Given the description of an element on the screen output the (x, y) to click on. 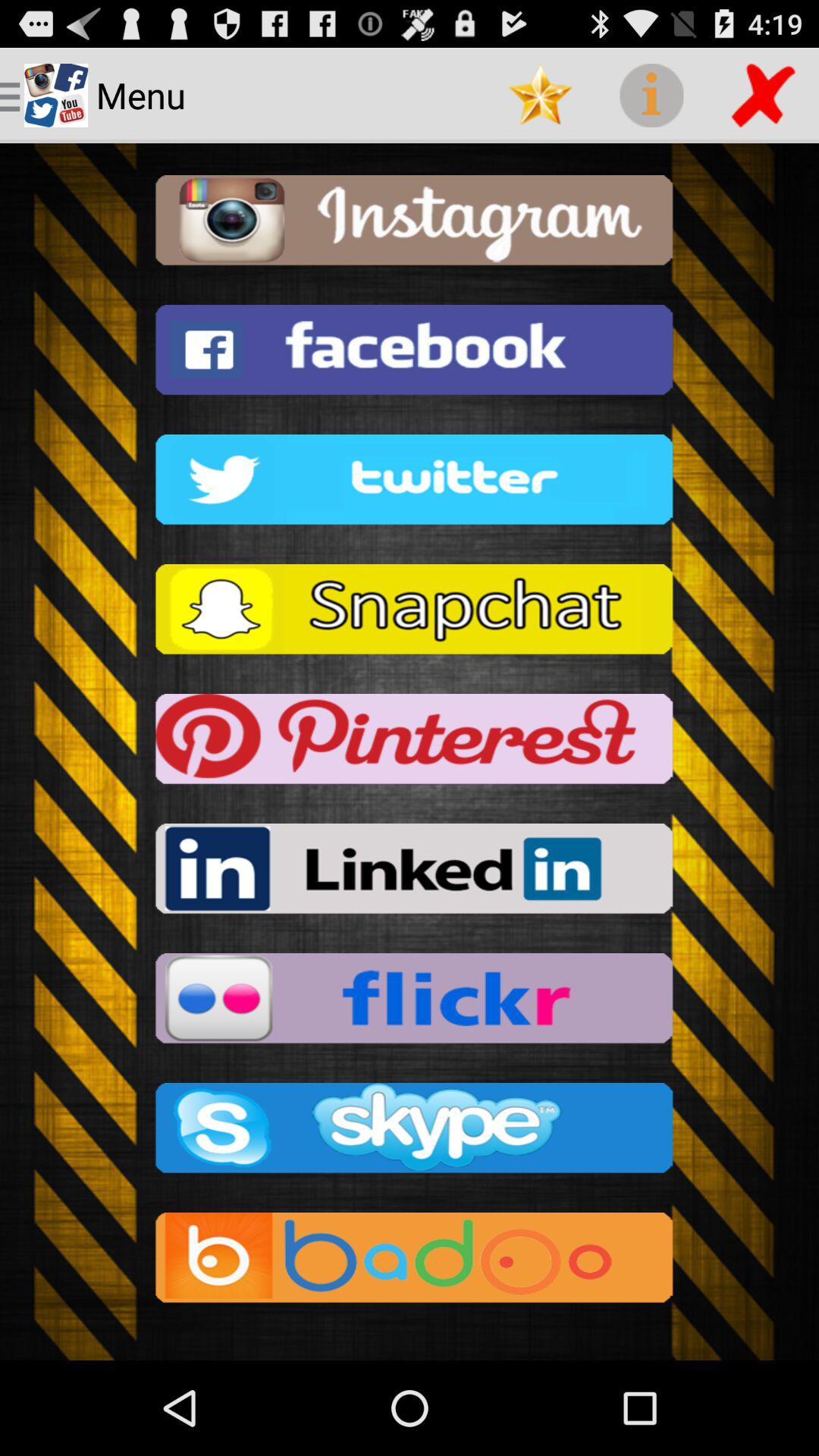
abrir funo badoo (409, 1262)
